Given the description of an element on the screen output the (x, y) to click on. 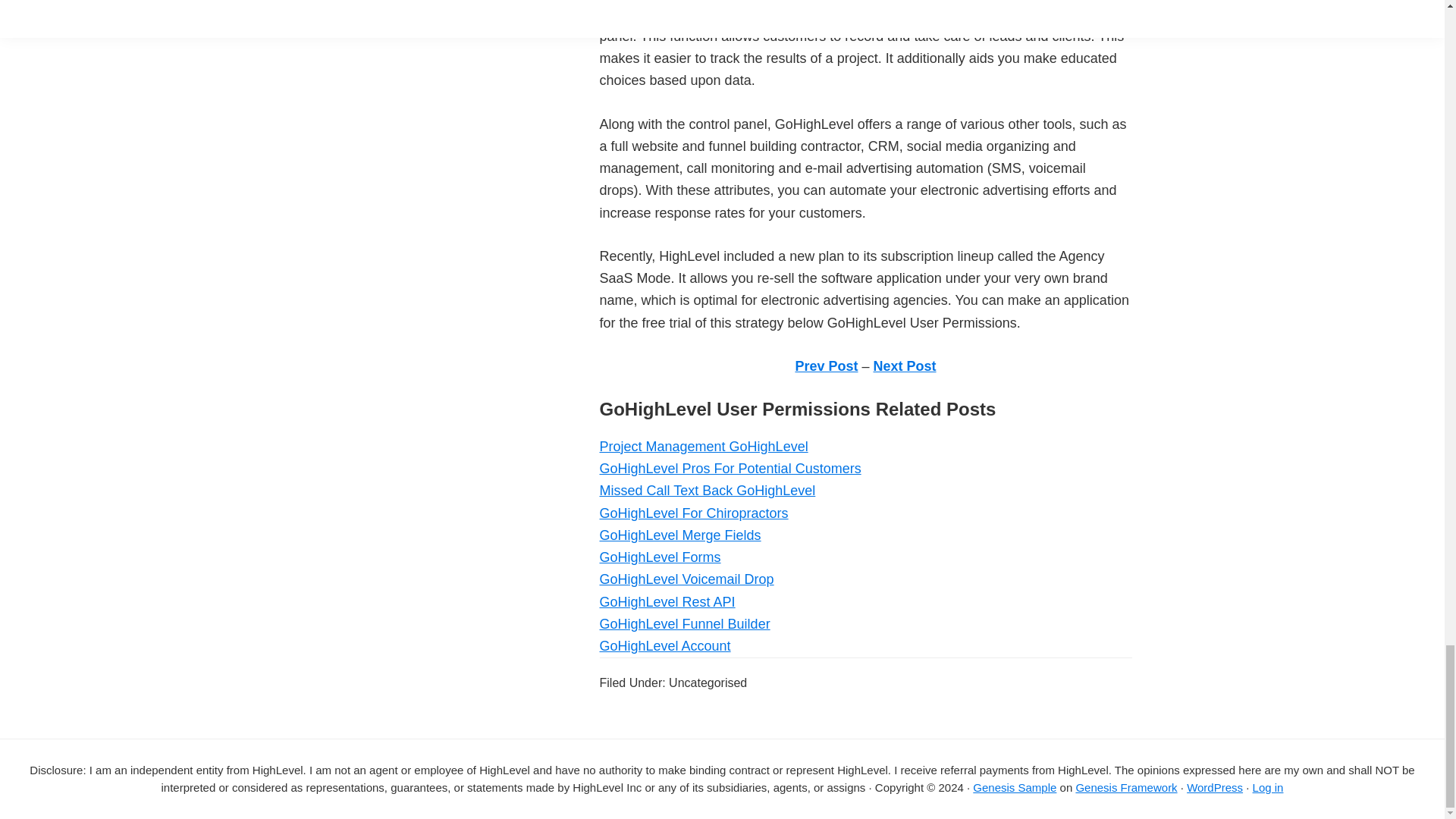
GoHighLevel Pros For Potential Customers (729, 468)
WordPress (1214, 787)
GoHighLevel Merge Fields (679, 534)
GoHighLevel For Chiropractors (692, 513)
Project Management GoHighLevel (703, 446)
GoHighLevel Rest API (666, 601)
GoHighLevel For Chiropractors (692, 513)
Prev Post (825, 365)
GoHighLevel Forms (659, 557)
Genesis Sample (1014, 787)
GoHighLevel Pros For Potential Customers (729, 468)
Project Management GoHighLevel (703, 446)
GoHighLevel Account (664, 645)
Next Post (904, 365)
GoHighLevel Voicemail Drop (685, 579)
